Given the description of an element on the screen output the (x, y) to click on. 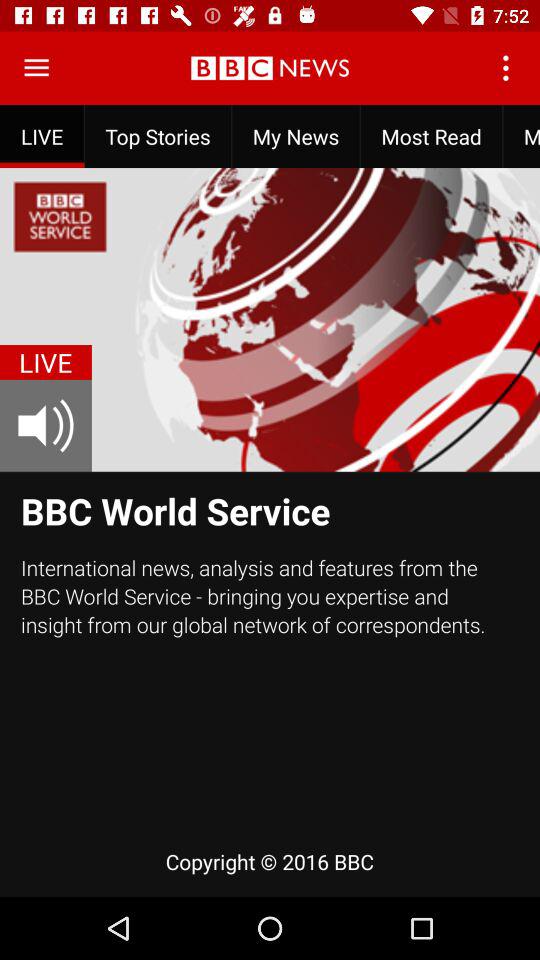
go to advertisement (36, 68)
